Given the description of an element on the screen output the (x, y) to click on. 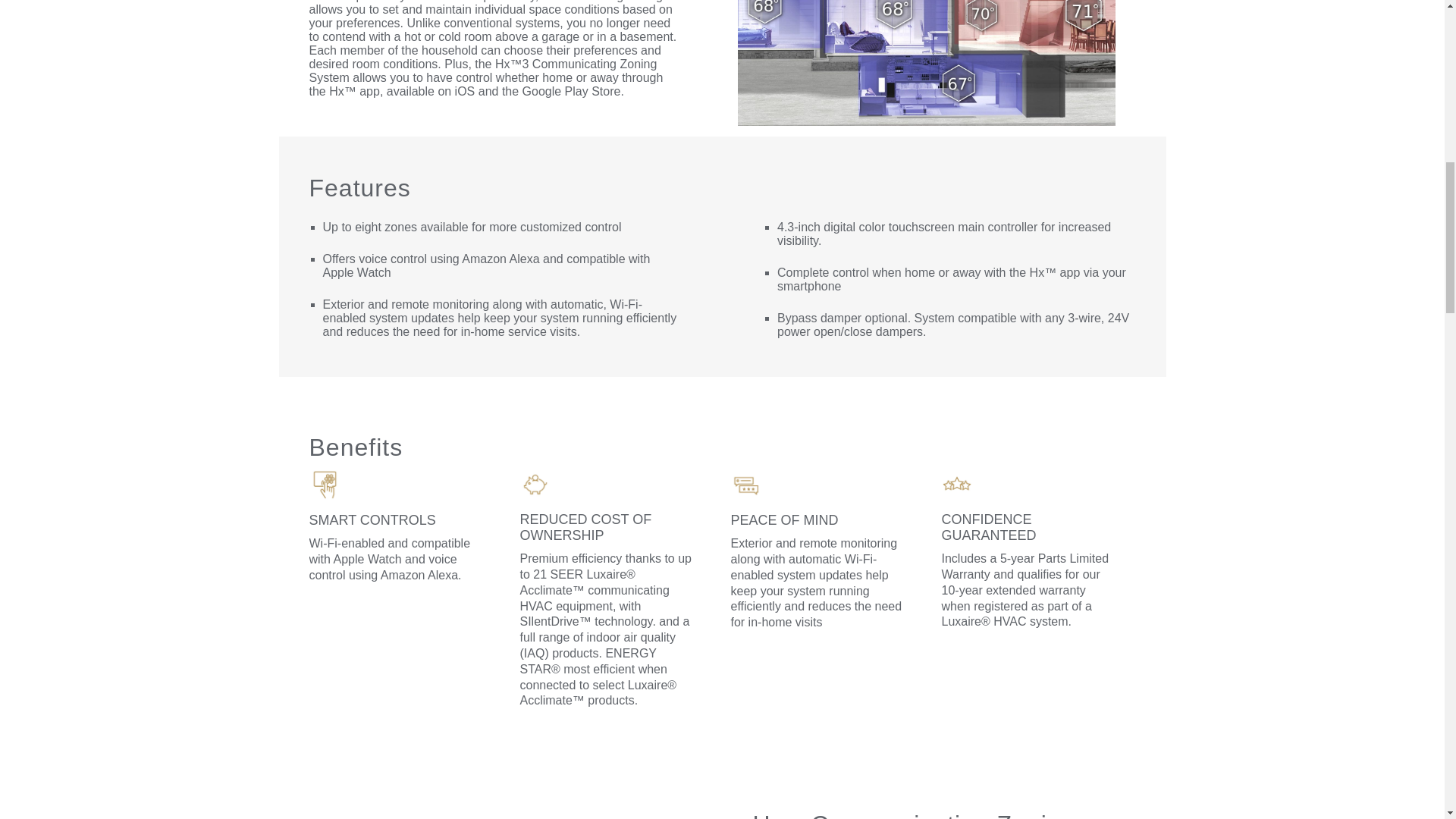
How Communicating Zoning Provides Comfort and Efficiency (500, 803)
